Given the description of an element on the screen output the (x, y) to click on. 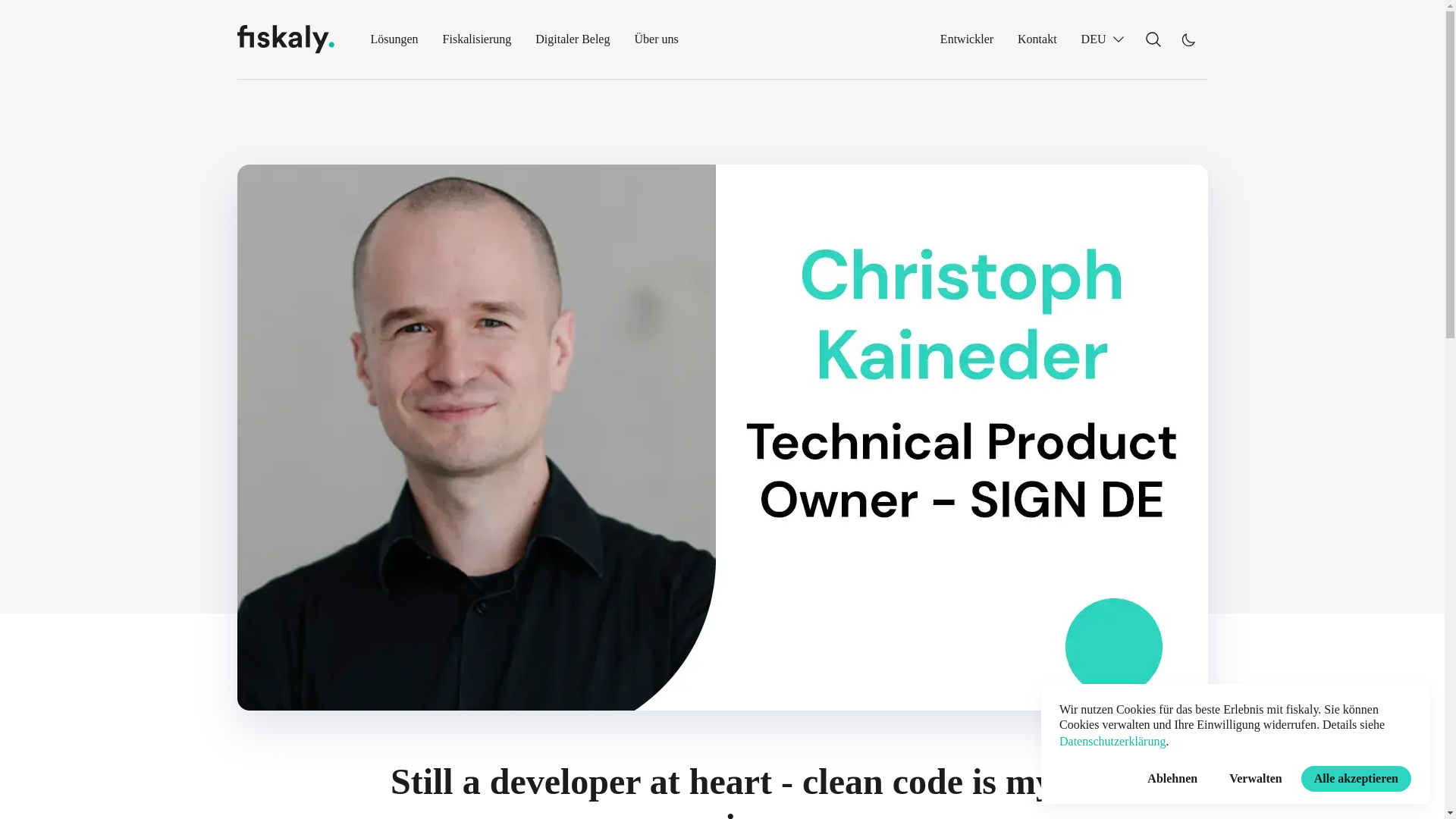
fiskaly. (284, 39)
Switch to dark mode (1187, 38)
Kultur (691, 67)
DEU (1103, 39)
KassenSichV (440, 67)
Fiskalisierung (477, 38)
Kontakt (1037, 38)
Entwickler (966, 38)
Deutschland (516, 67)
Digitaler Beleg (572, 38)
